Given the description of an element on the screen output the (x, y) to click on. 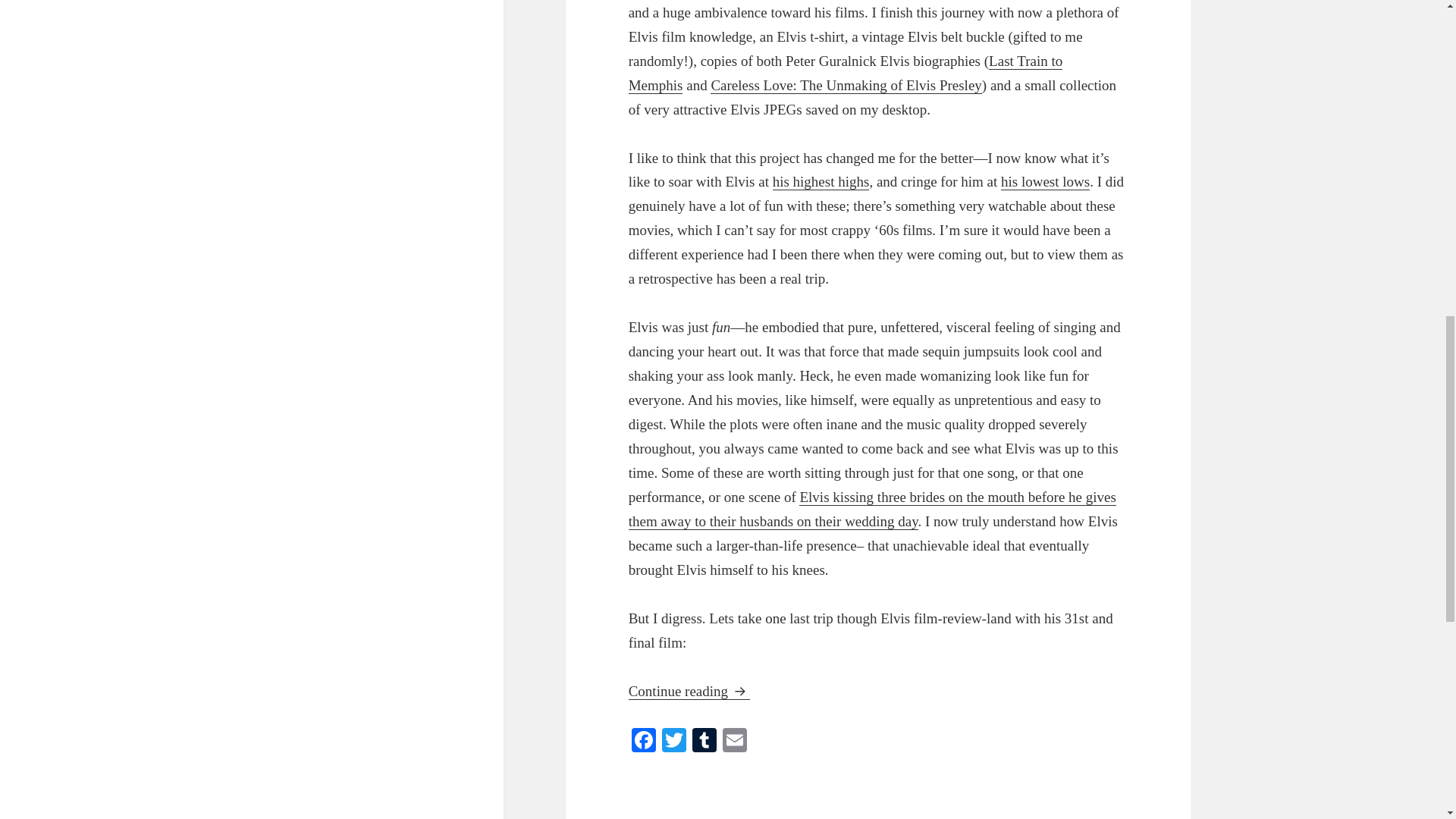
Twitter (673, 741)
Tumblr (703, 741)
Email (734, 741)
Email (734, 741)
his lowest lows (1045, 181)
Careless Love: The Unmaking of Elvis Presley (845, 85)
Twitter (673, 741)
Facebook (643, 741)
Facebook (643, 741)
